Given the description of an element on the screen output the (x, y) to click on. 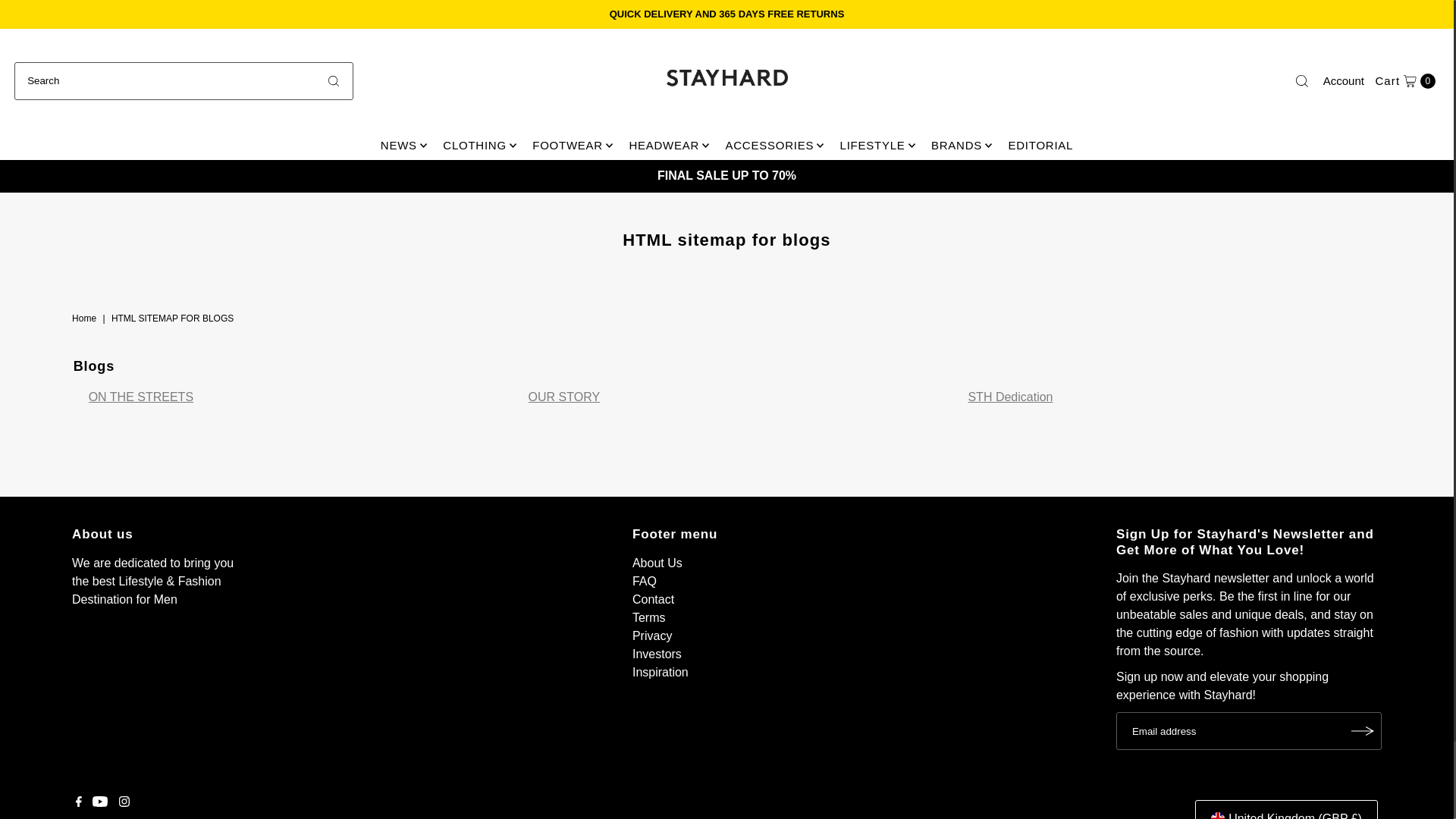
Skip to content (61, 18)
Home (85, 317)
